Given the description of an element on the screen output the (x, y) to click on. 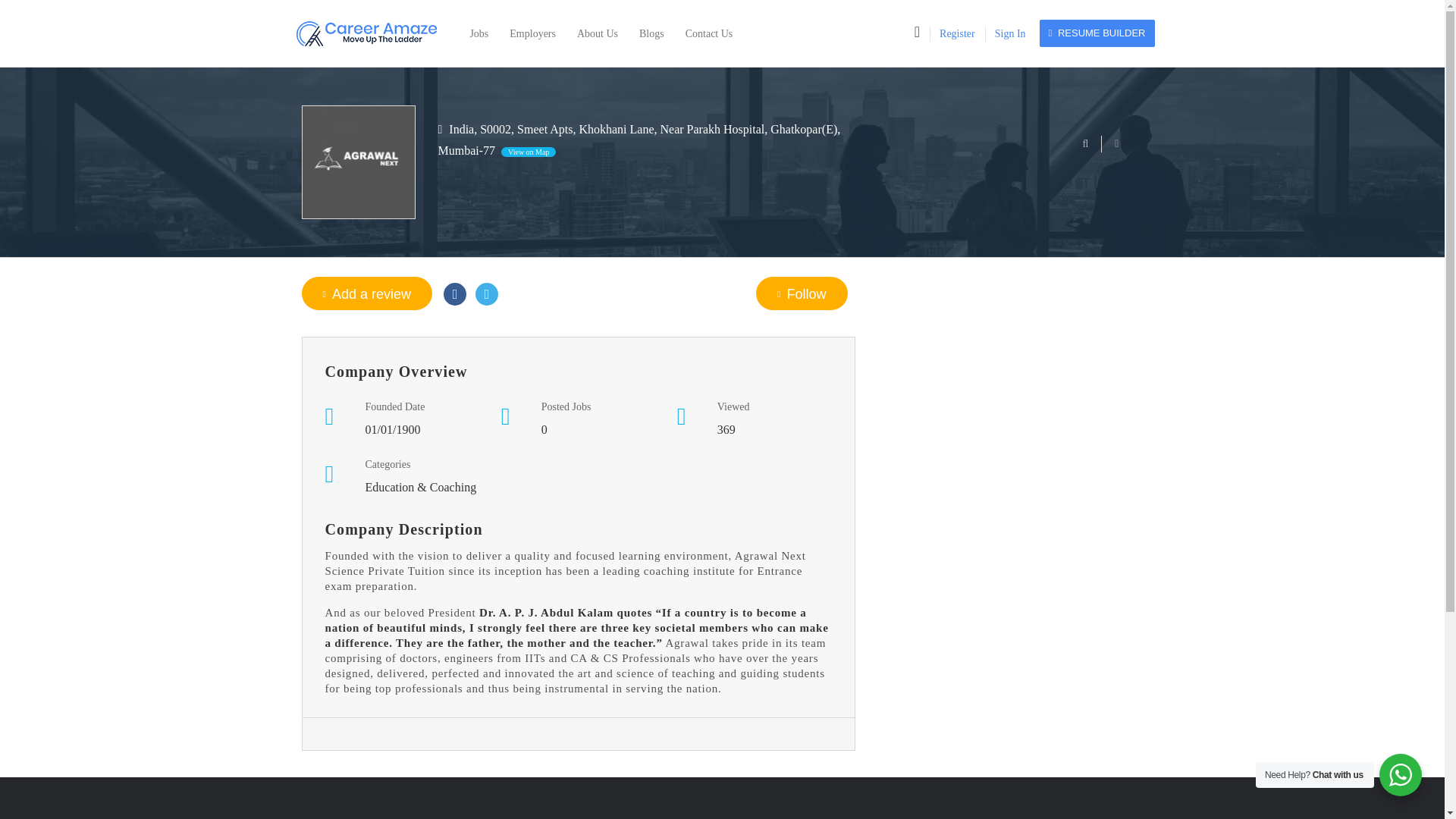
View on Map (528, 152)
Register (957, 33)
Follow (801, 293)
Add a review (366, 293)
RESUME BUILDER (1096, 32)
Sign In (1010, 33)
Career Amaze (372, 32)
Contact Us (709, 33)
